Given the description of an element on the screen output the (x, y) to click on. 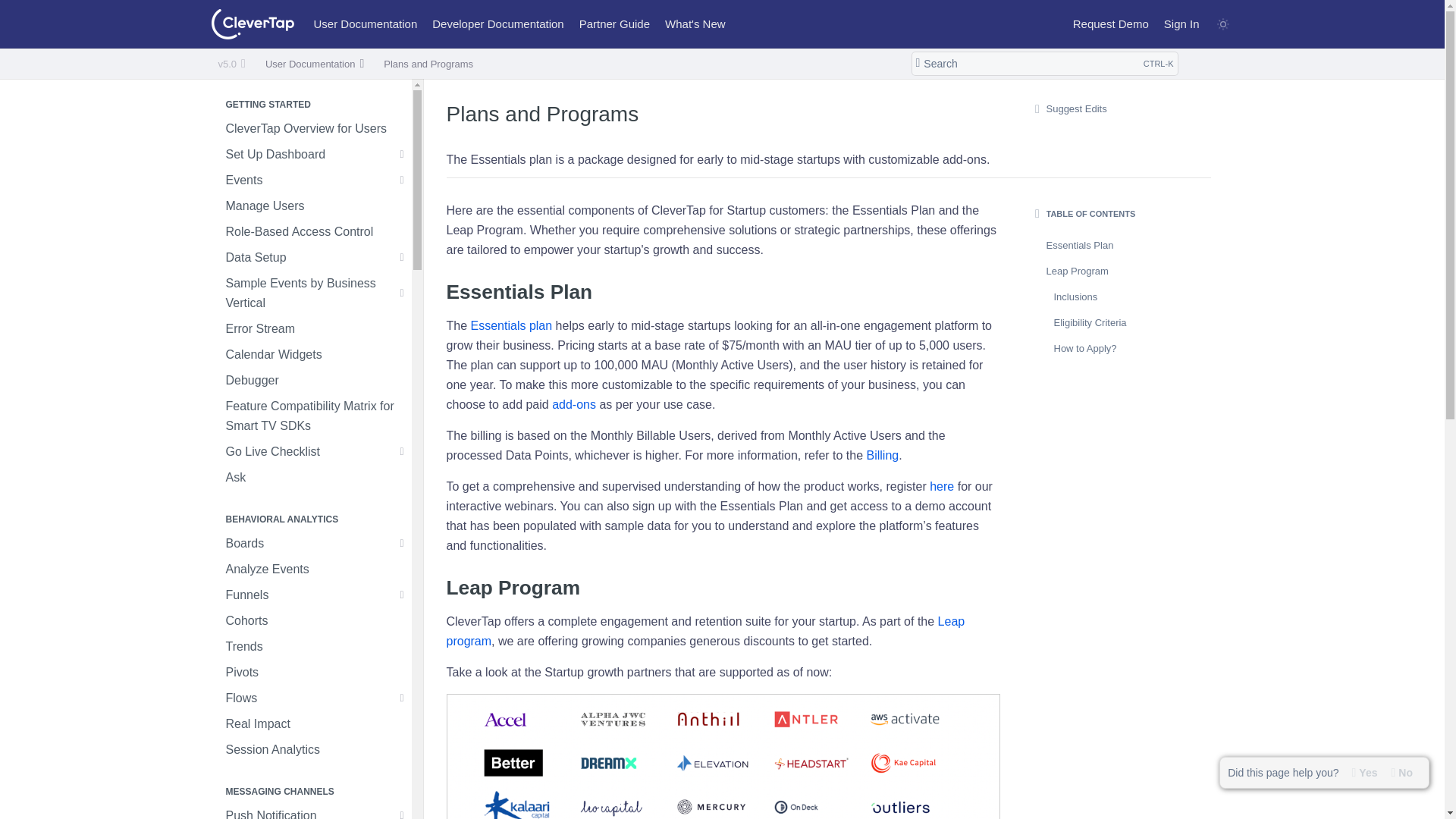
What's New (695, 24)
User Documentation (365, 24)
Developer Documentation (497, 24)
Request Demo (1110, 24)
Essentials Plan (721, 292)
v5.0 (232, 63)
Manage Users (310, 206)
Set Up Dashboard (1043, 63)
Data Setup (310, 154)
